Given the description of an element on the screen output the (x, y) to click on. 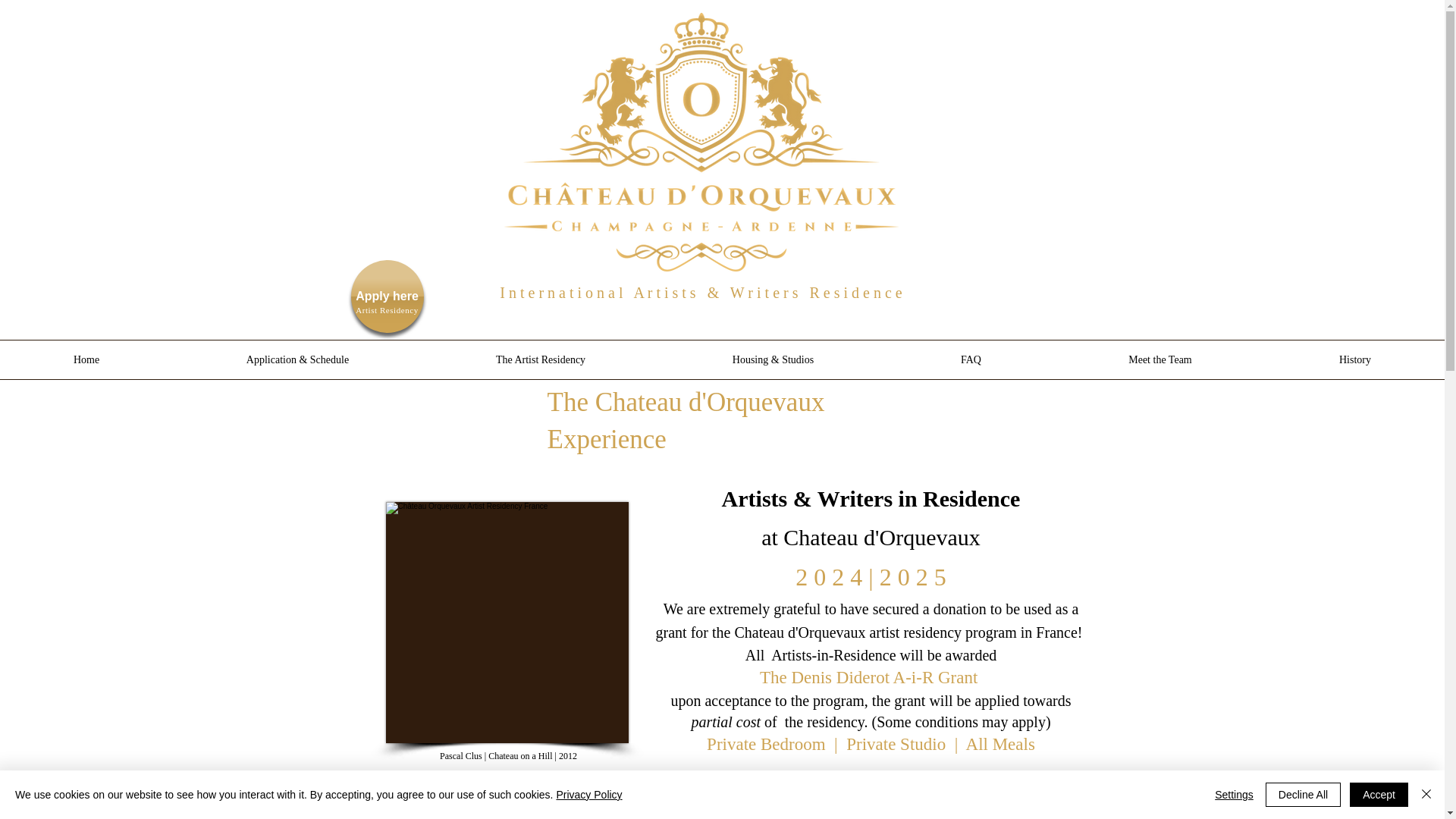
Privacy Policy (588, 794)
Home (86, 359)
FAQ (970, 359)
Meet the Team (1159, 359)
The Artist Residency (540, 359)
Apply here (386, 296)
Accept (1378, 794)
Decline All (1302, 794)
